Given the description of an element on the screen output the (x, y) to click on. 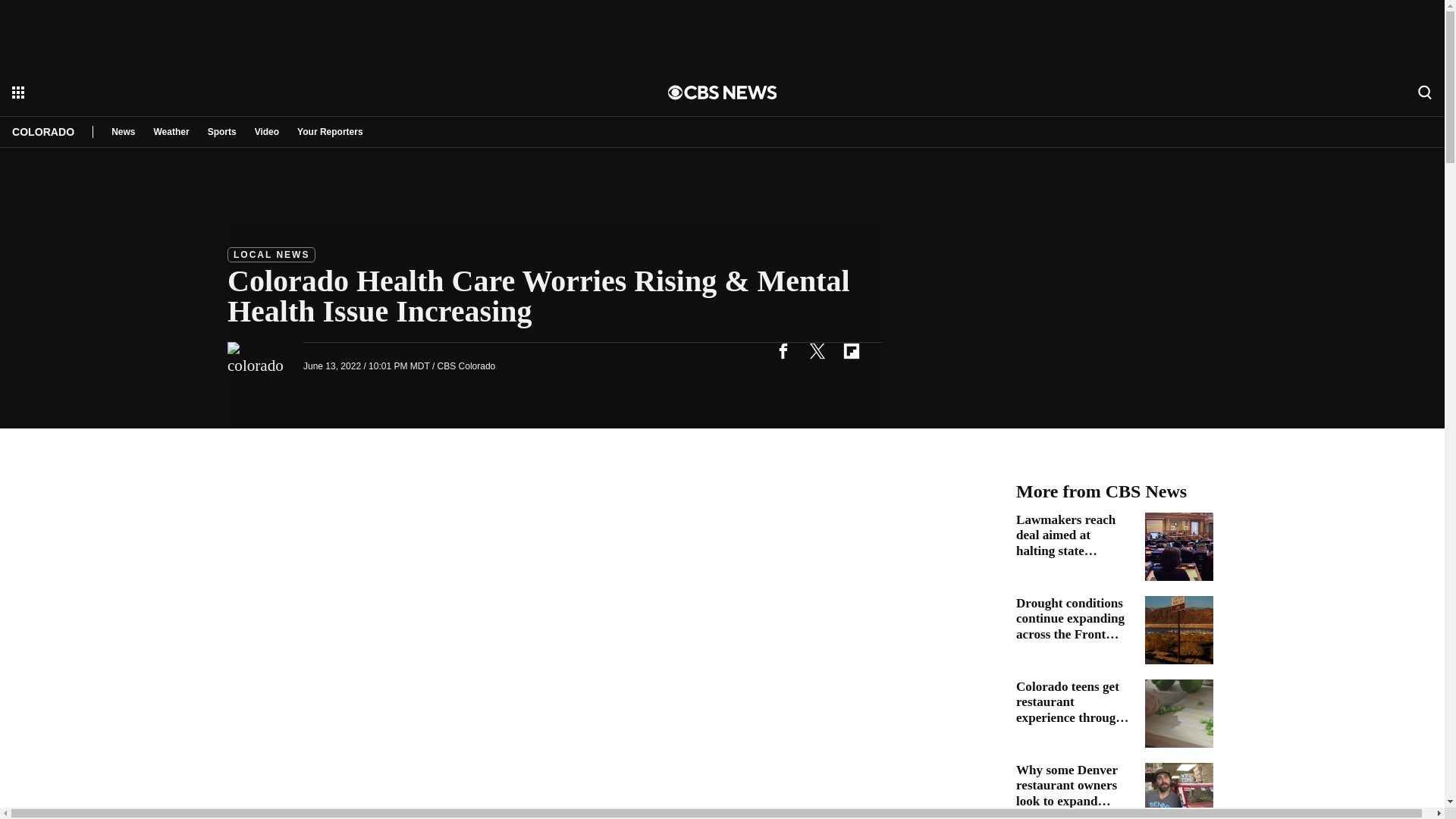
facebook (782, 350)
flipboard (850, 350)
twitter (816, 350)
